Given the description of an element on the screen output the (x, y) to click on. 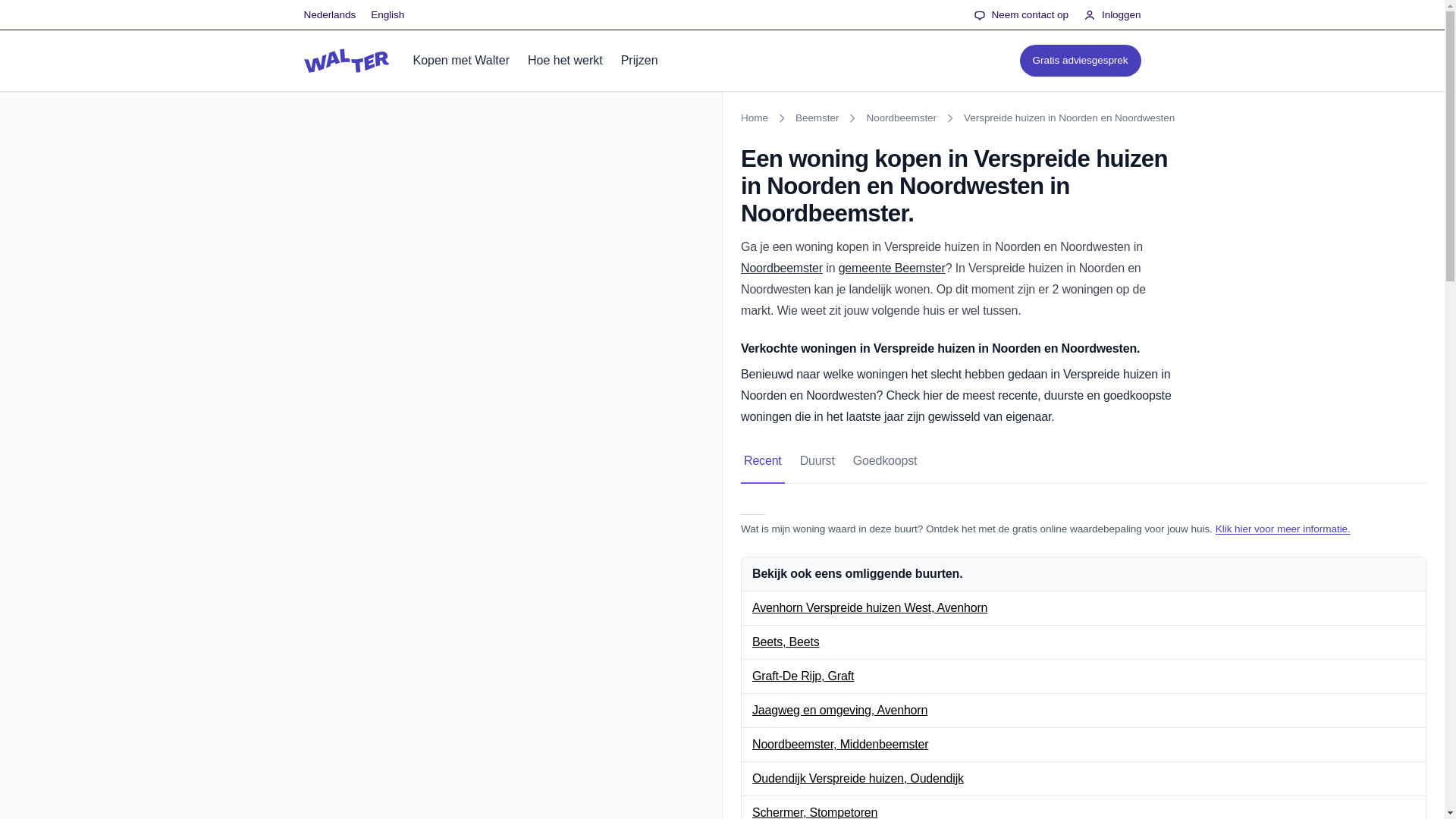
Klik hier voor meer informatie. (1283, 528)
Goedkoopst (885, 461)
Beets, Beets (785, 641)
Homepage (345, 60)
Beemster (817, 117)
Hoe het werkt (564, 60)
Duurst (817, 461)
Inloggen (1111, 14)
Neem contact op (1021, 14)
Inloggen (1111, 14)
